Given the description of an element on the screen output the (x, y) to click on. 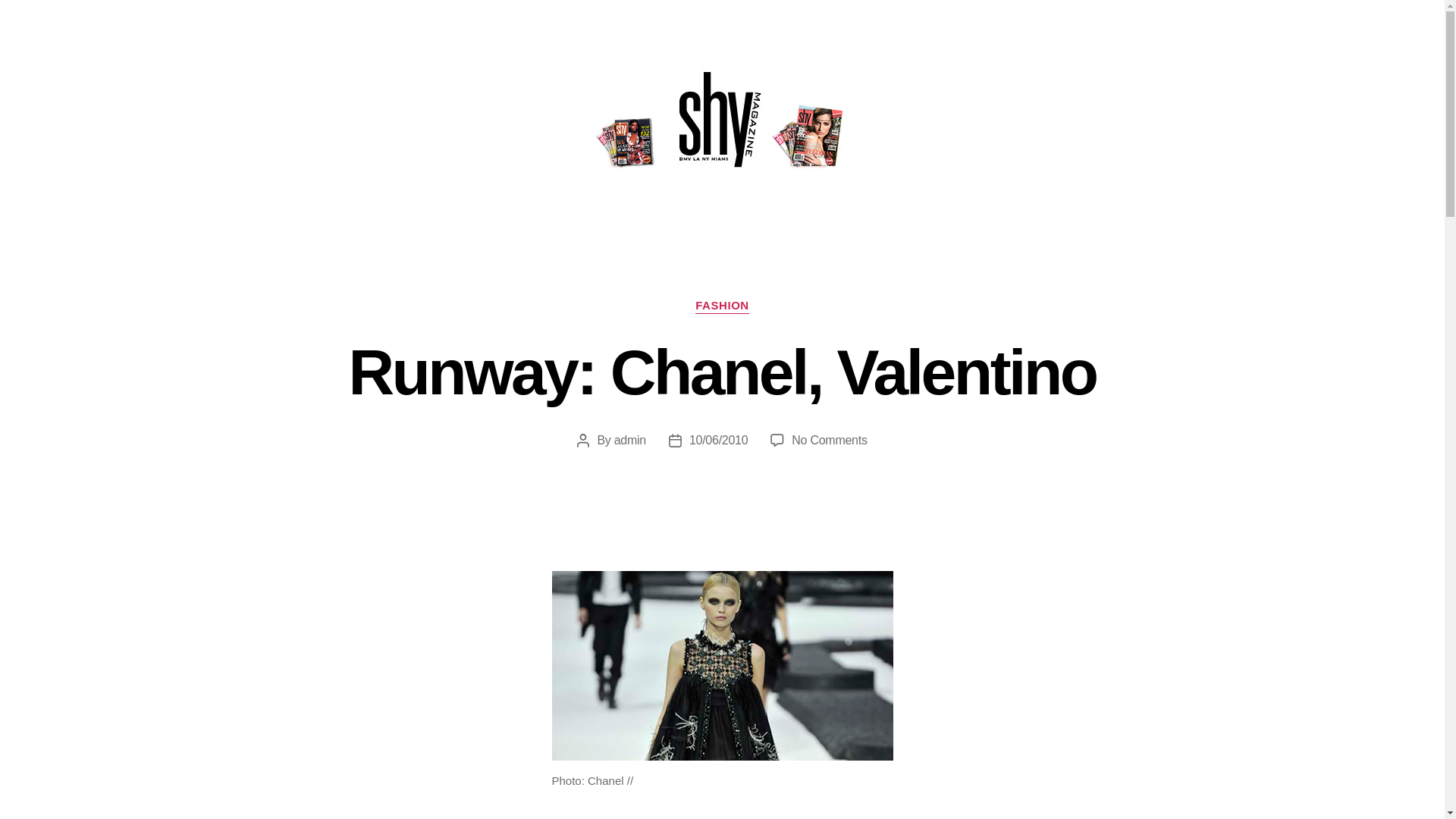
original (722, 665)
FASHION (722, 305)
admin (630, 440)
No Comments (829, 440)
